Given the description of an element on the screen output the (x, y) to click on. 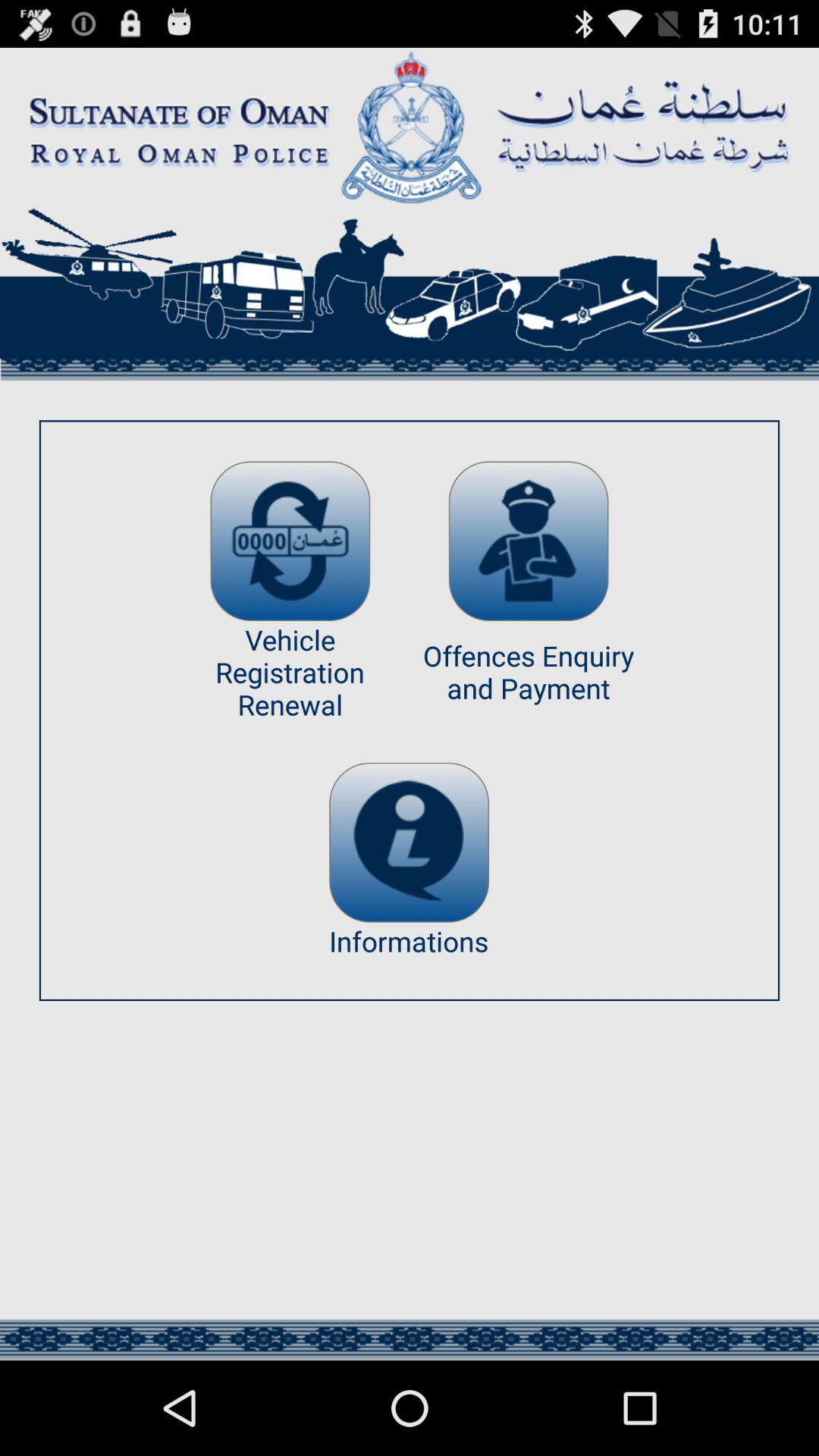
select item below the vehicle registration renewal icon (409, 842)
